Given the description of an element on the screen output the (x, y) to click on. 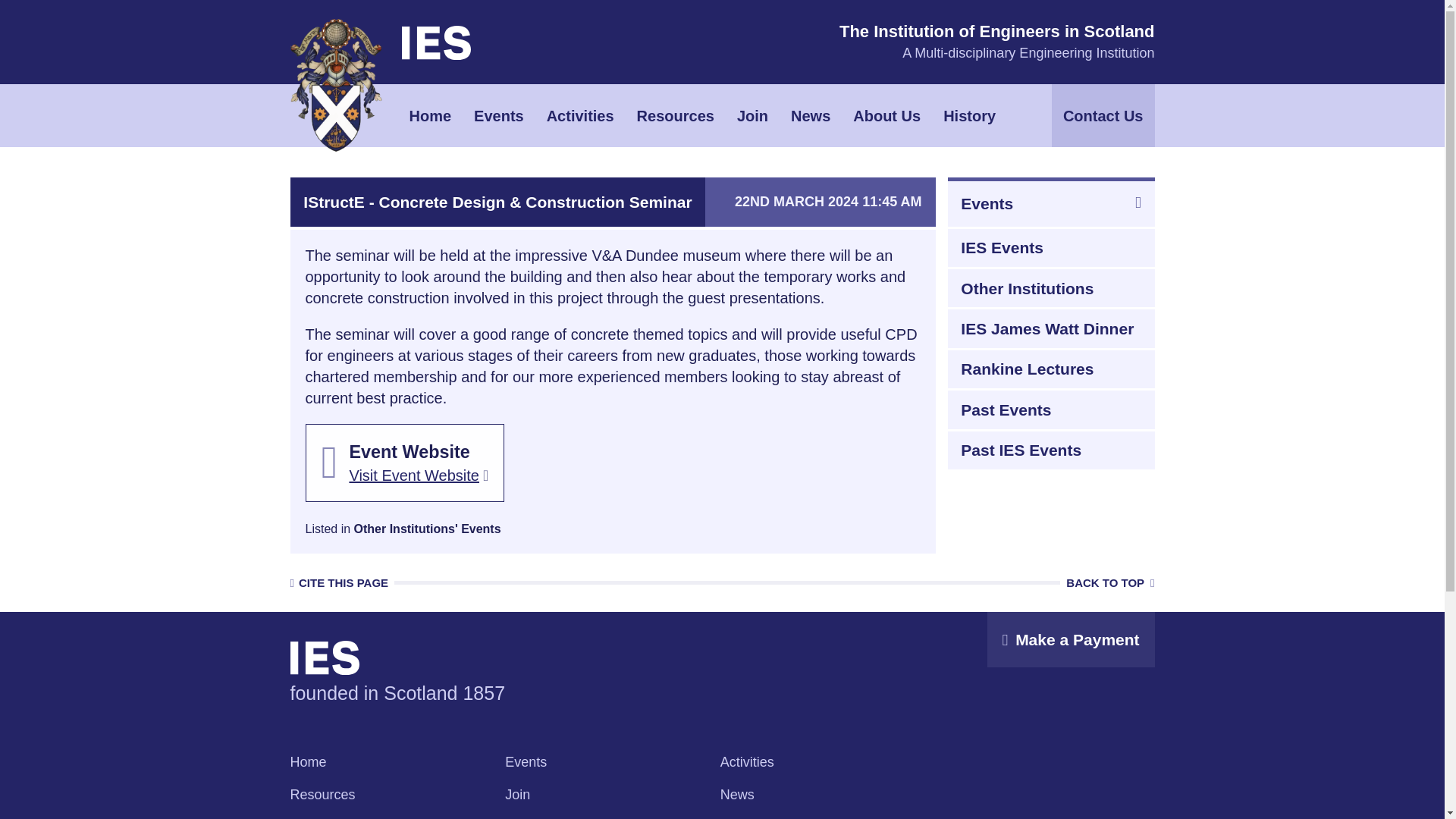
About Us (886, 115)
Events (499, 115)
Resources (675, 115)
Home (430, 115)
Activities (580, 115)
News (809, 115)
